Given the description of an element on the screen output the (x, y) to click on. 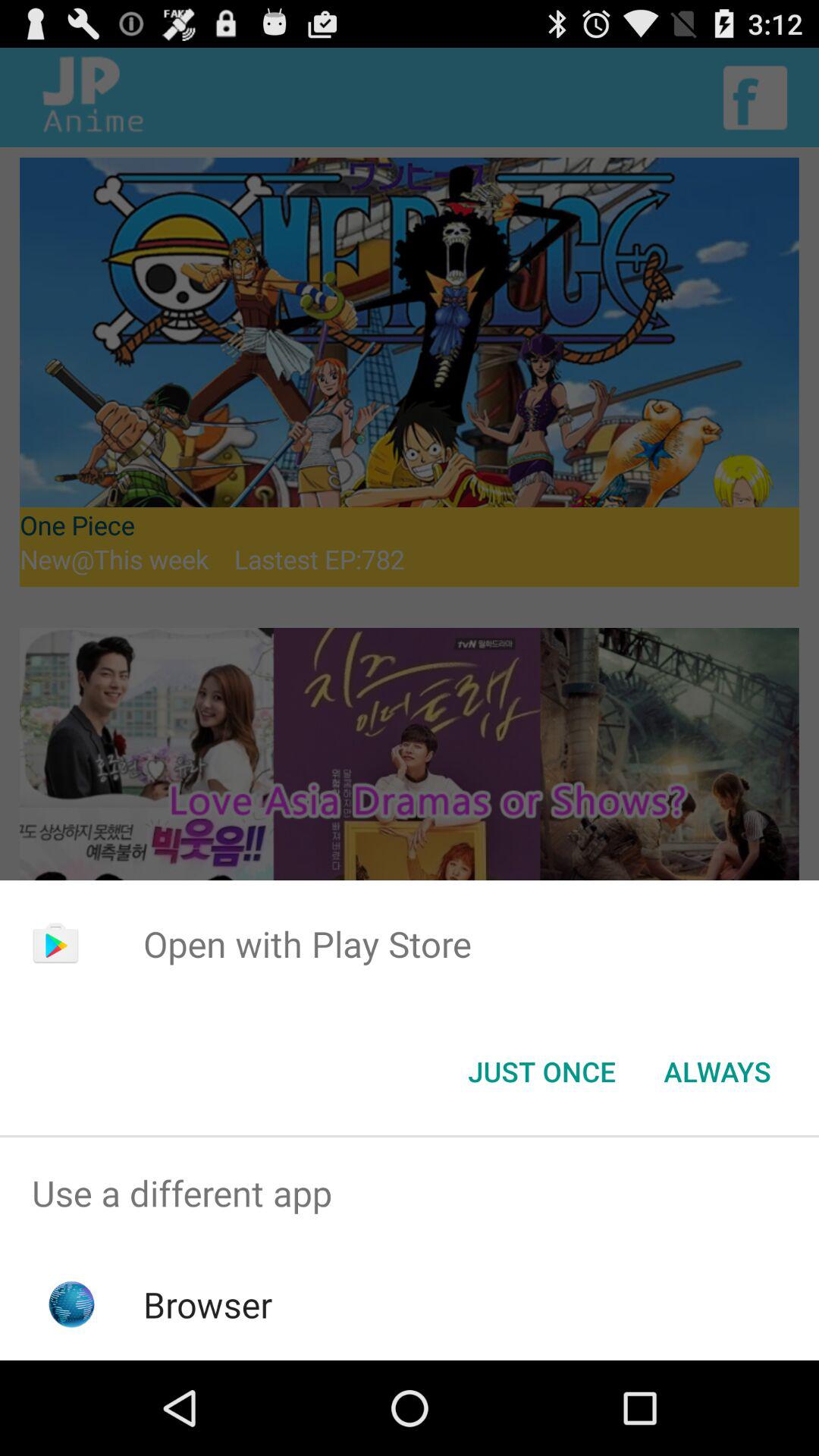
open button next to the always icon (541, 1071)
